Given the description of an element on the screen output the (x, y) to click on. 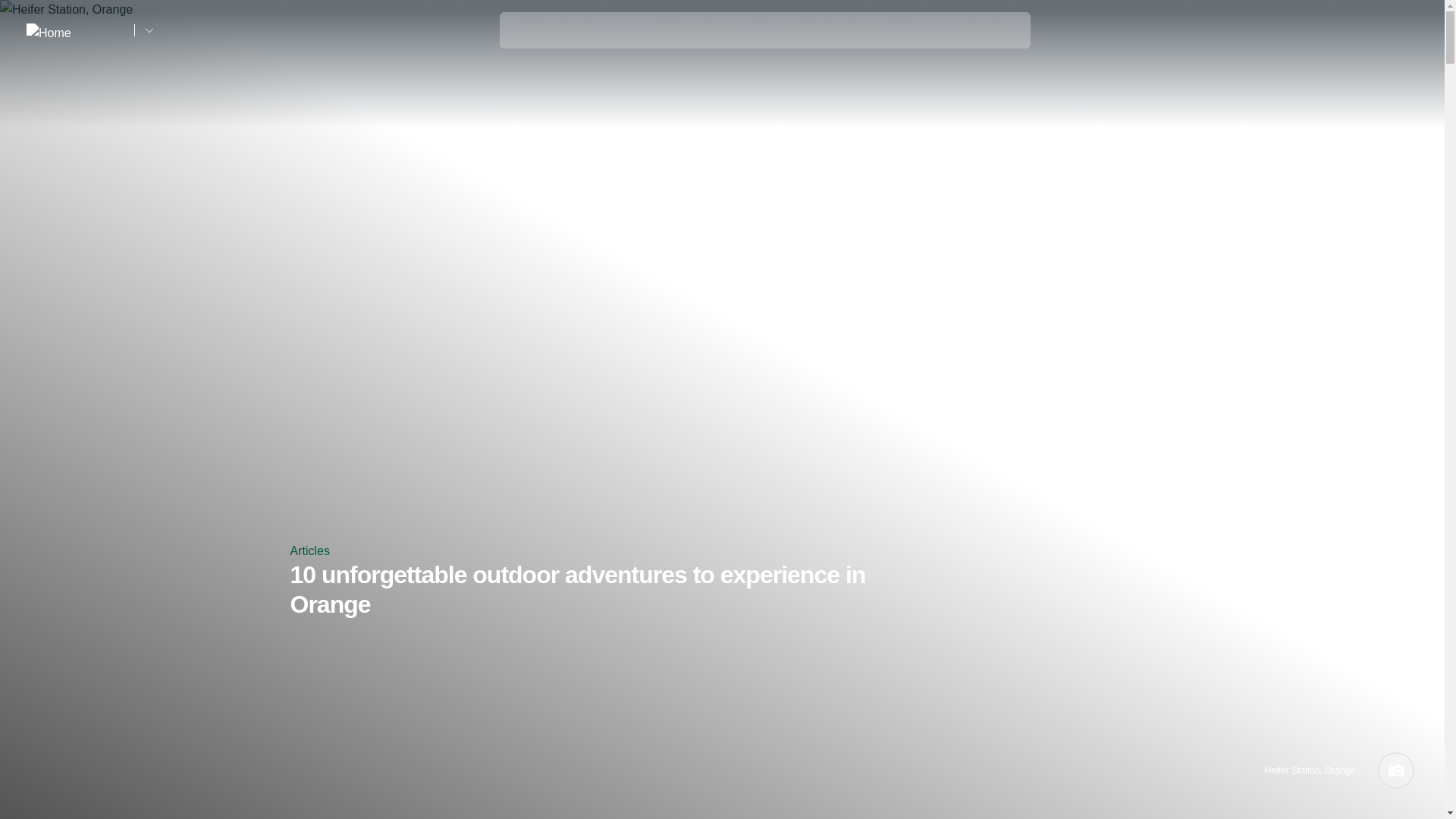
Toggle navigation (1407, 31)
Go to (148, 30)
Submit the search query. (520, 27)
Home (74, 29)
Open (1407, 29)
